Given the description of an element on the screen output the (x, y) to click on. 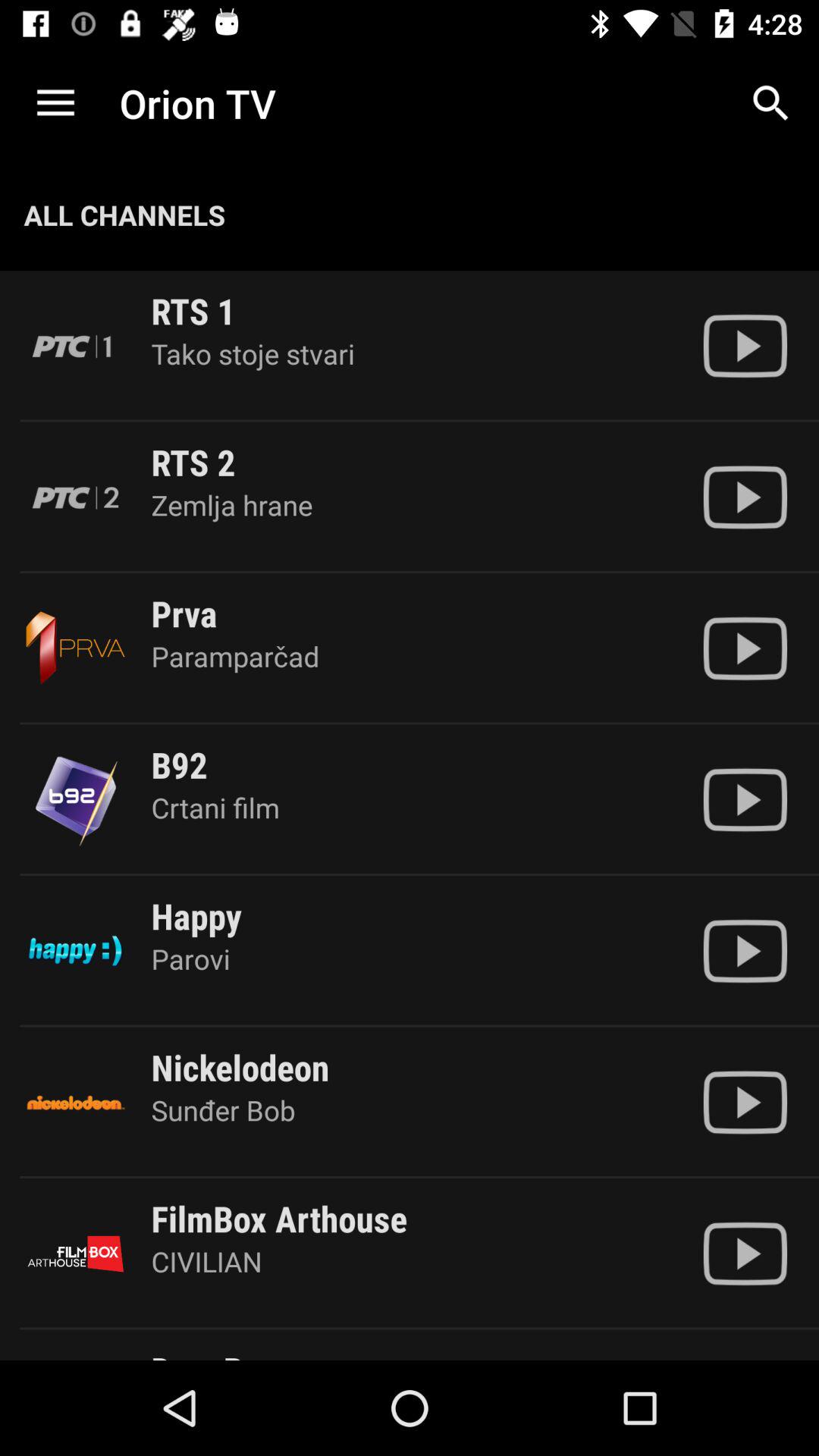
play video (745, 497)
